Given the description of an element on the screen output the (x, y) to click on. 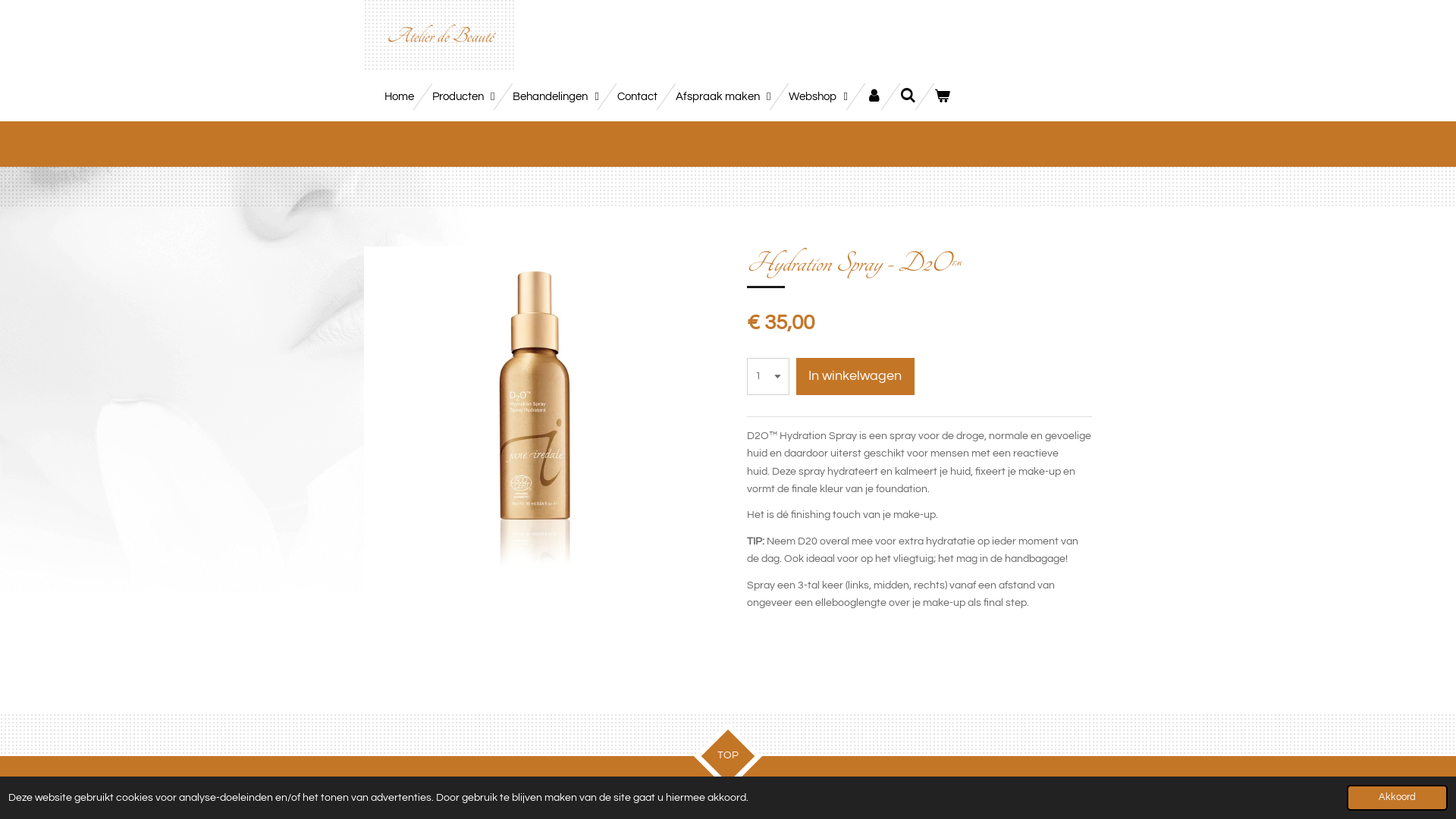
Home Element type: text (399, 96)
Bekijk winkelwagen Element type: hover (942, 96)
JouwWeb Element type: text (1076, 796)
Producten Element type: text (463, 96)
Akkoord Element type: text (1396, 797)
In winkelwagen Element type: text (855, 376)
Behandelingen Element type: text (555, 96)
TOP Element type: text (720, 747)
Contact Element type: text (637, 96)
Account Element type: hover (873, 96)
Webshop Element type: text (817, 96)
Afspraak maken Element type: text (722, 96)
Zoeken Element type: hover (908, 96)
